Given the description of an element on the screen output the (x, y) to click on. 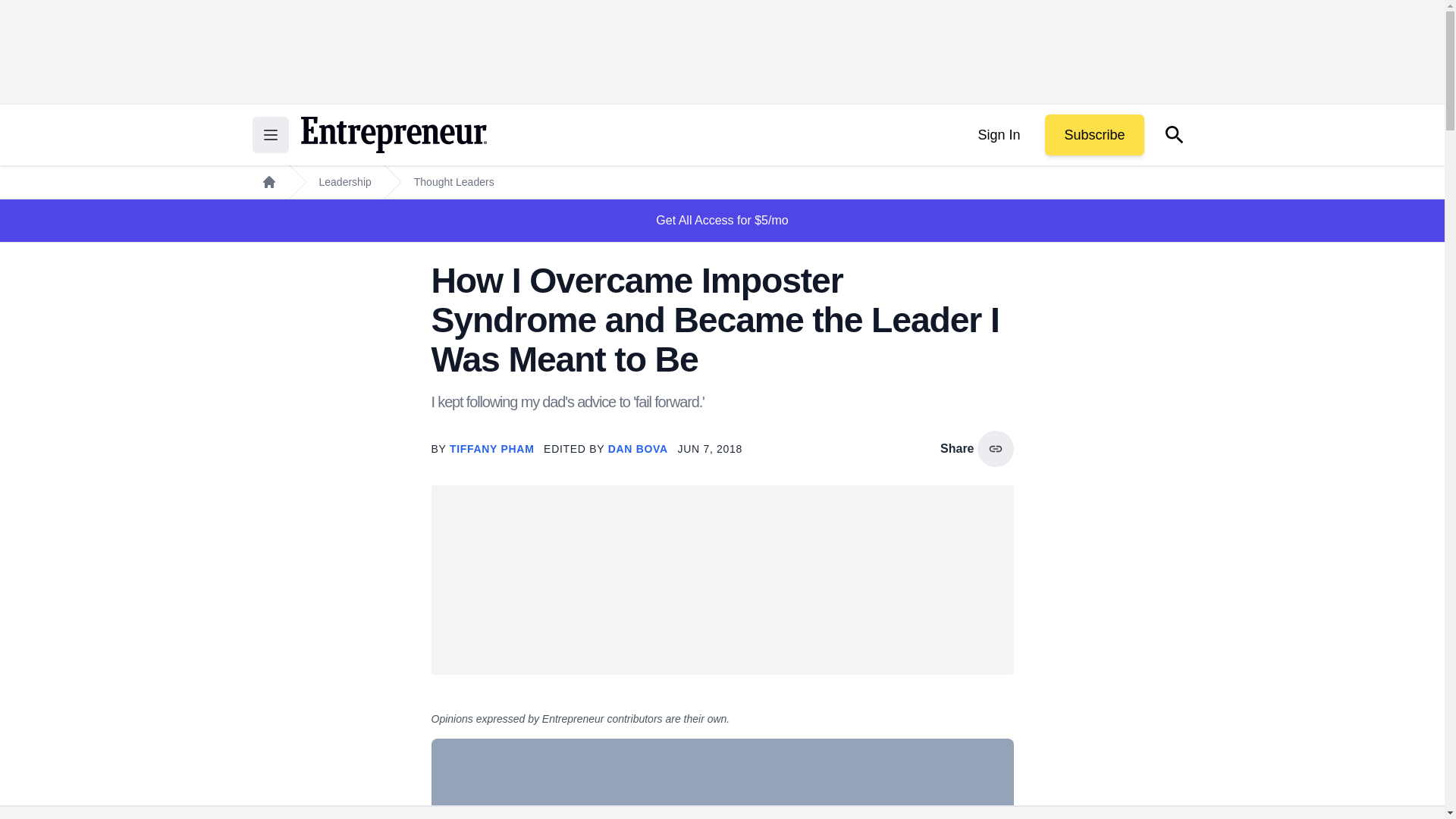
Sign In (998, 134)
Return to the home page (392, 135)
copy (994, 448)
Subscribe (1093, 134)
